Given the description of an element on the screen output the (x, y) to click on. 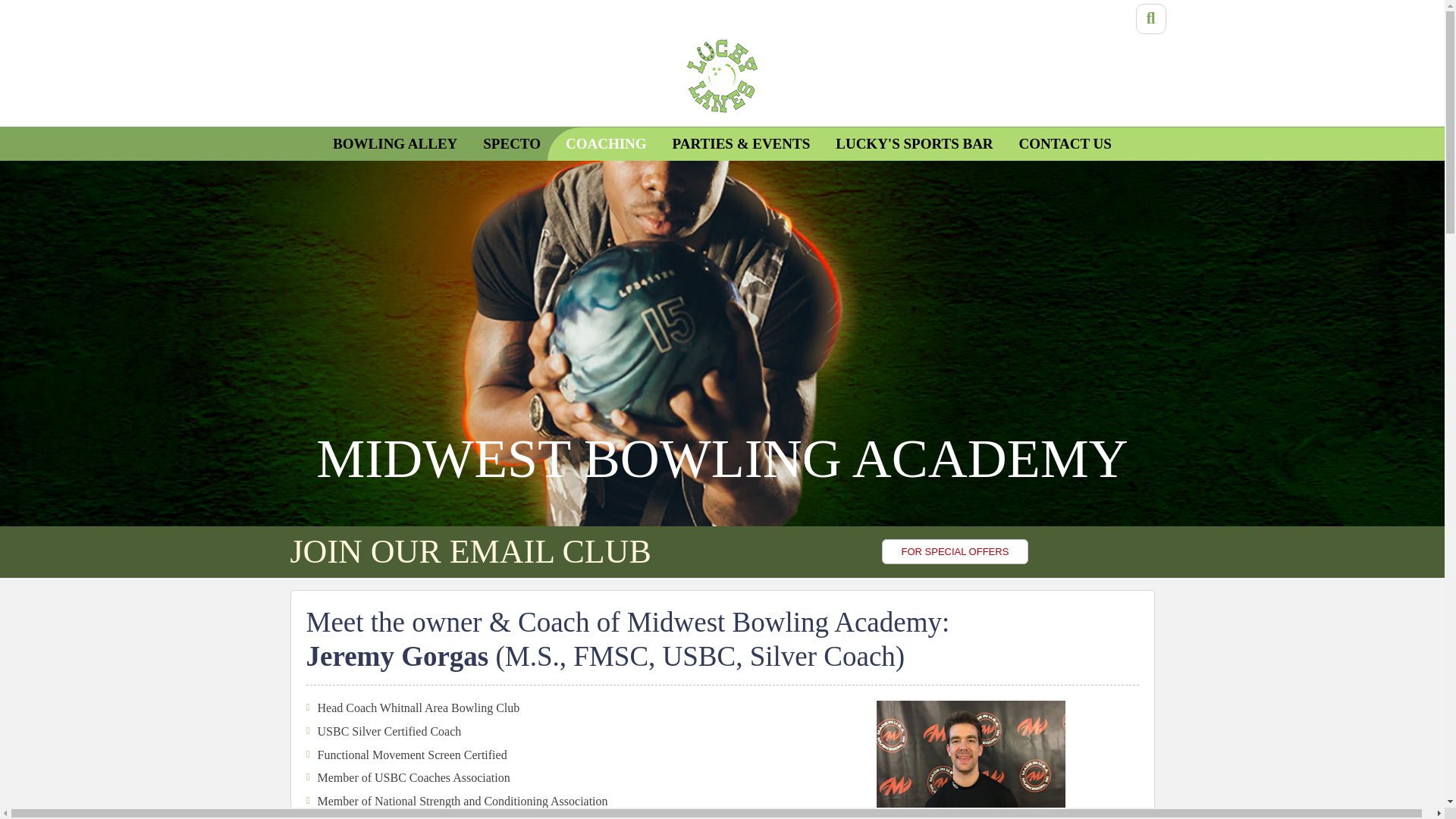
SPECTO (511, 143)
LUCKY'S SPORTS BAR (914, 143)
FOR SPECIAL OFFERS (953, 551)
COACHING (606, 143)
BOWLING ALLEY (395, 143)
CONTACT US (1065, 143)
